Given the description of an element on the screen output the (x, y) to click on. 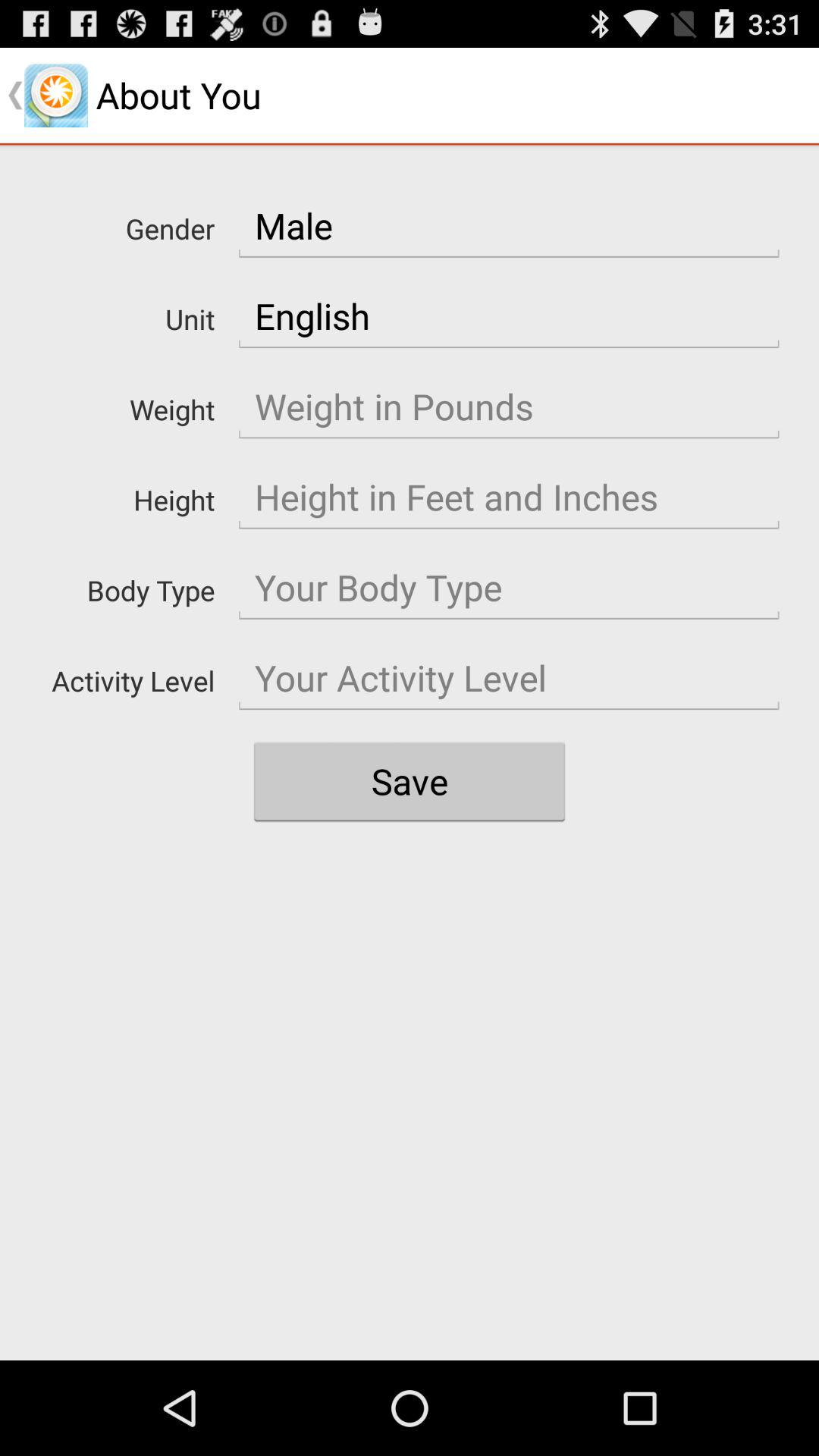
height input (508, 497)
